Given the description of an element on the screen output the (x, y) to click on. 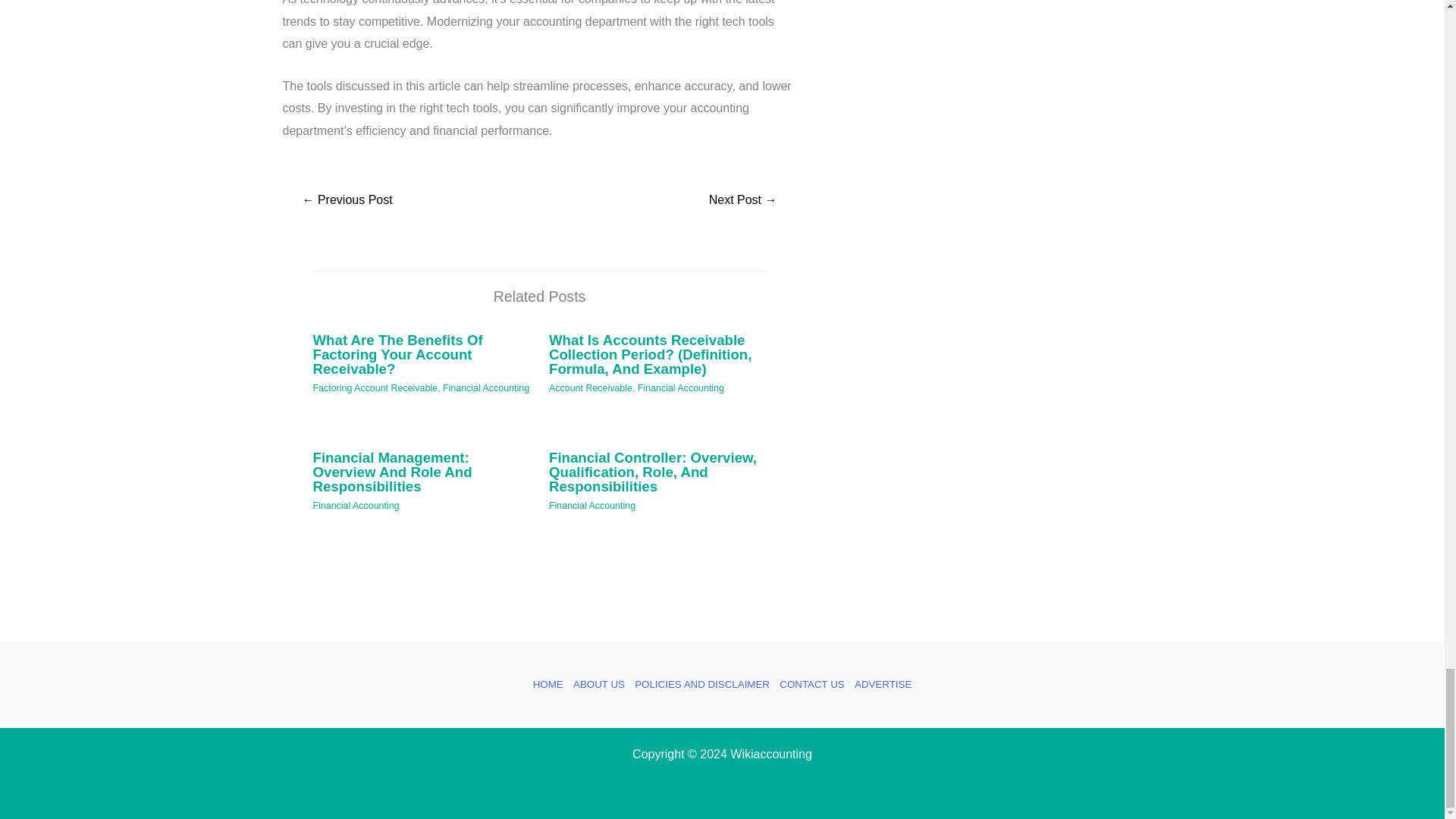
Understanding Sales And Use Taxes (346, 201)
7 Tools To Ensure Accounting Record Accuracy (742, 201)
